Given the description of an element on the screen output the (x, y) to click on. 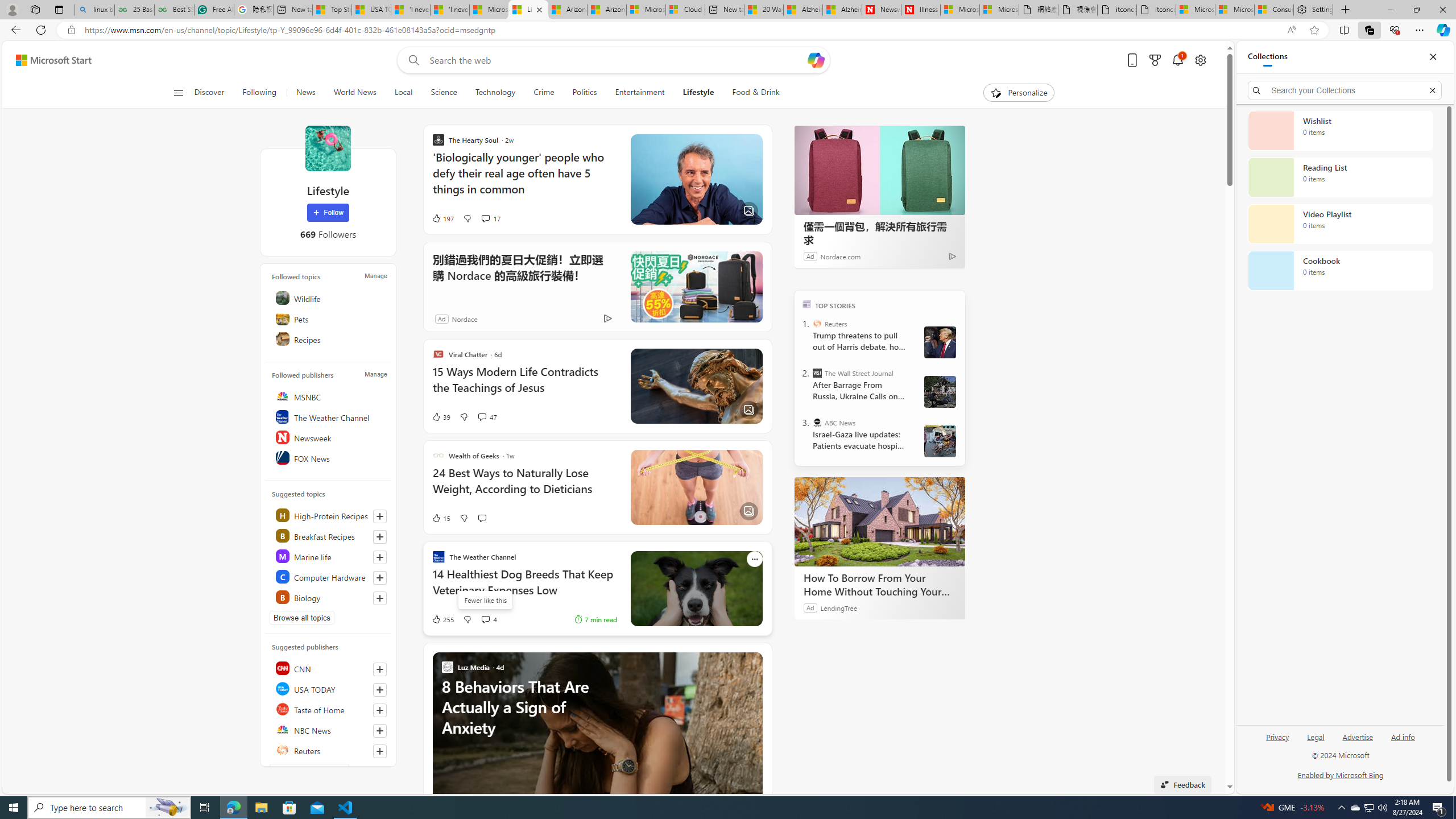
The Weather Channel (328, 416)
Nordace.com (839, 256)
ABC News (816, 422)
View comments 47 Comment (481, 416)
15 Like (440, 517)
TOP (806, 302)
15 Ways Modern Life Contradicts the Teachings of Jesus (524, 385)
Reading List collection, 0 items (1339, 177)
